Given the description of an element on the screen output the (x, y) to click on. 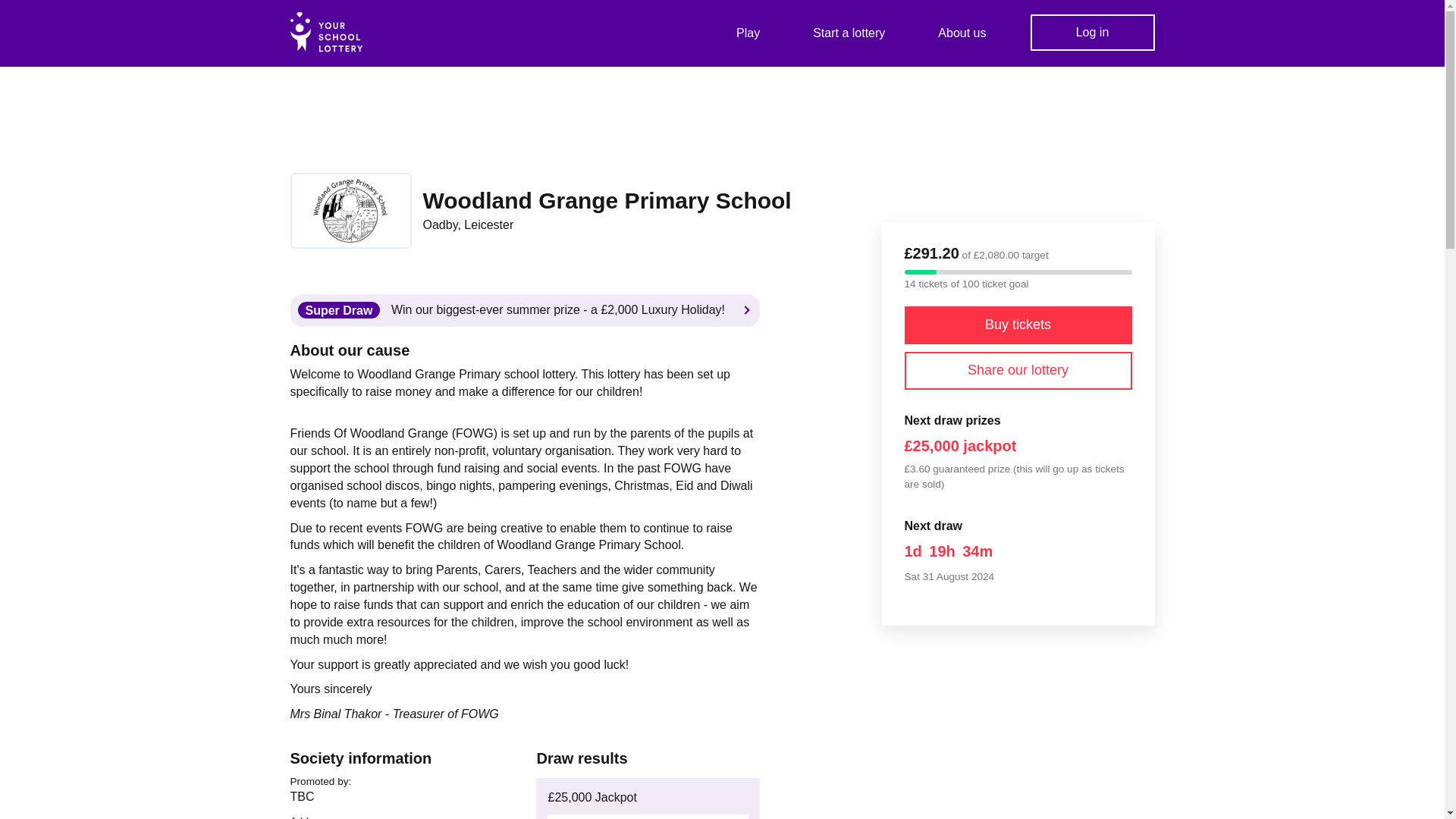
About us (961, 33)
Play (748, 33)
Share our lottery (1017, 370)
Buy tickets (1017, 324)
Log in (1091, 32)
Start a lottery (849, 33)
